Given the description of an element on the screen output the (x, y) to click on. 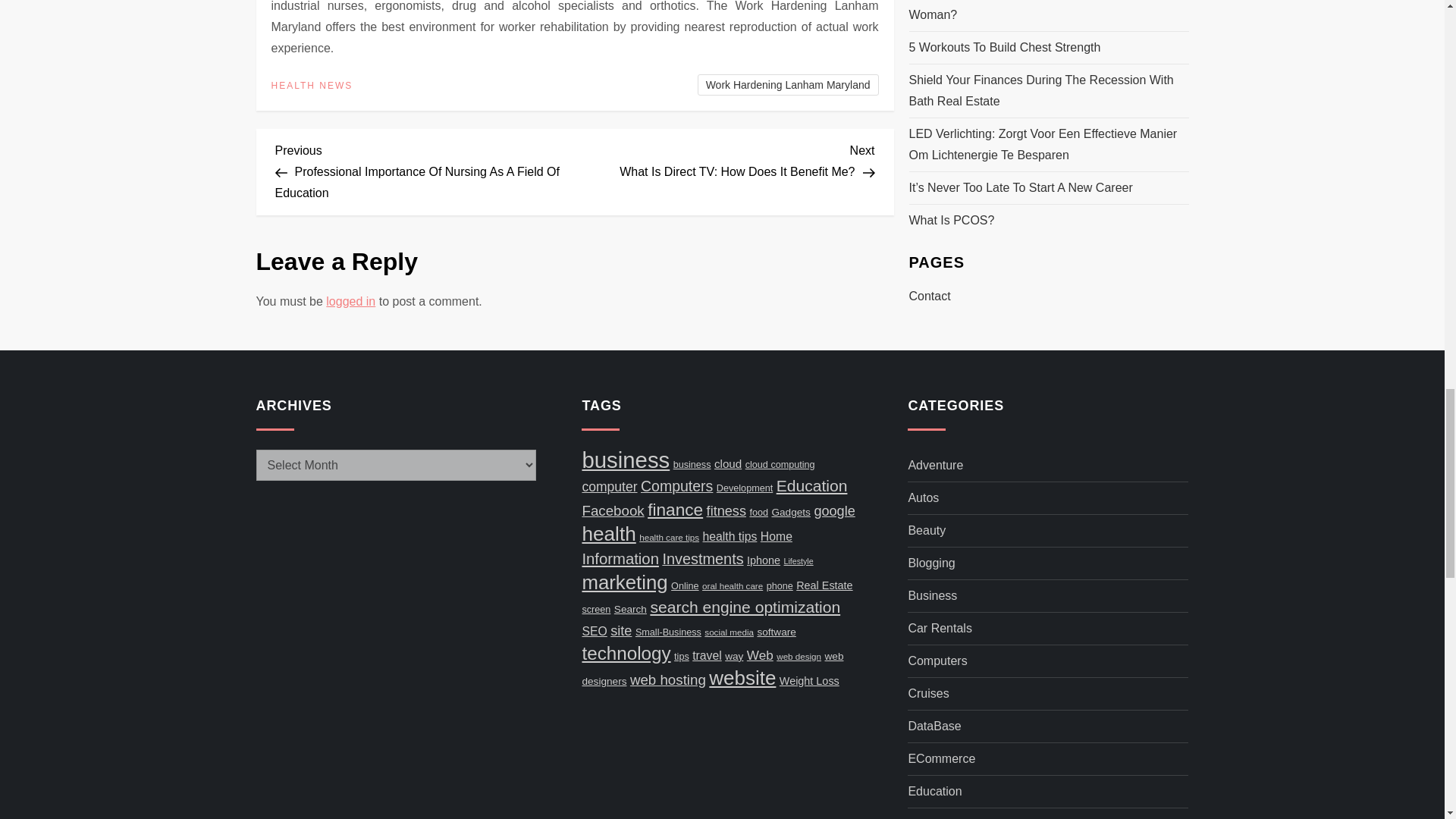
HEALTH NEWS (725, 159)
Work Hardening Lanham Maryland (311, 86)
logged in (788, 84)
